Given the description of an element on the screen output the (x, y) to click on. 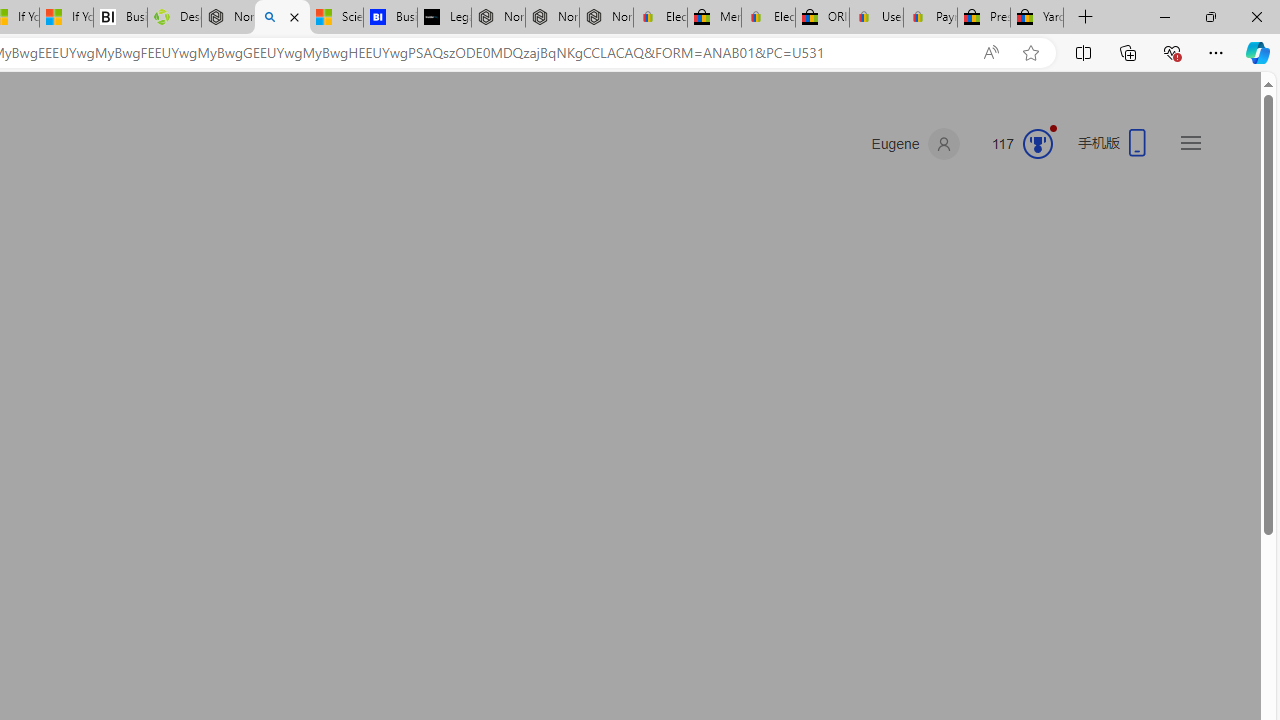
Descarga Driver Updater (174, 17)
Nordace - Summer Adventures 2024 (228, 17)
Press Room - eBay Inc. (983, 17)
User Privacy Notice | eBay (875, 17)
Yard, Garden & Outdoor Living (1037, 17)
